Given the description of an element on the screen output the (x, y) to click on. 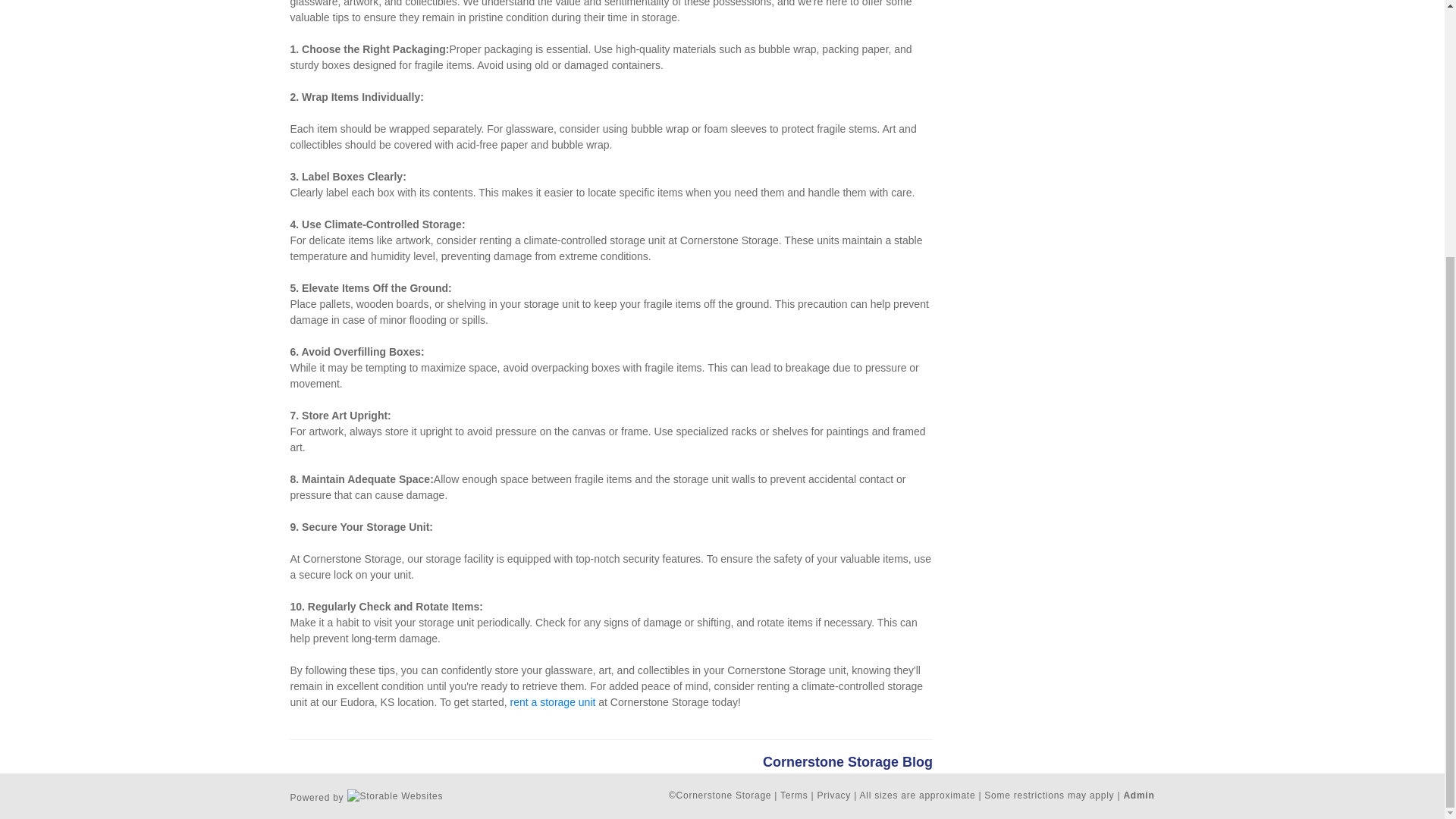
rent a storage unit (553, 702)
Privacy (833, 795)
Terms (794, 795)
Powered by (365, 795)
Cornerstone Storage Blog (847, 762)
Admin (1138, 795)
